Given the description of an element on the screen output the (x, y) to click on. 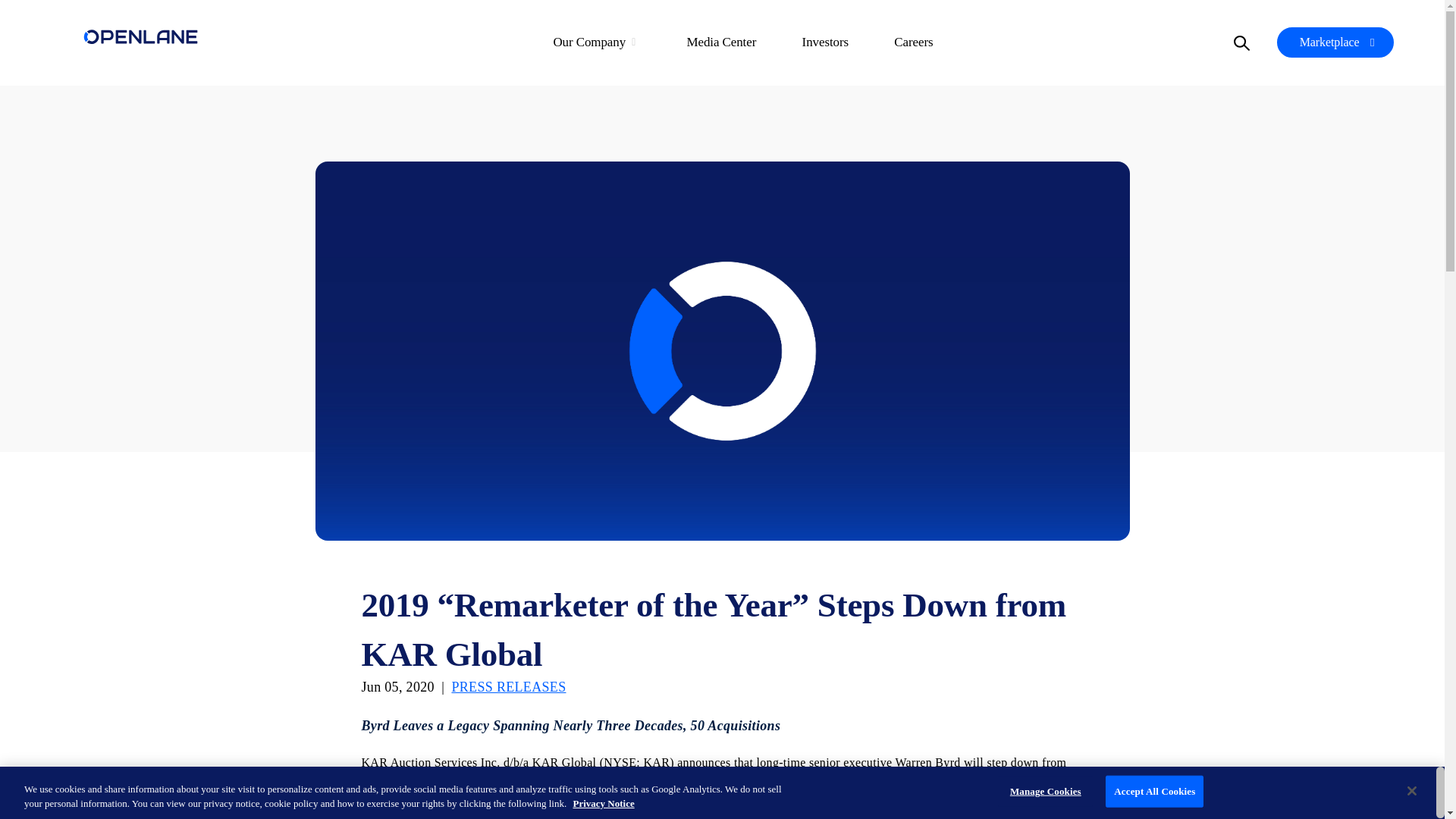
Marketplace (1334, 42)
Investors (824, 42)
Media Center (720, 42)
PRESS RELEASES (508, 687)
Our Company (596, 42)
Careers (912, 42)
